Given the description of an element on the screen output the (x, y) to click on. 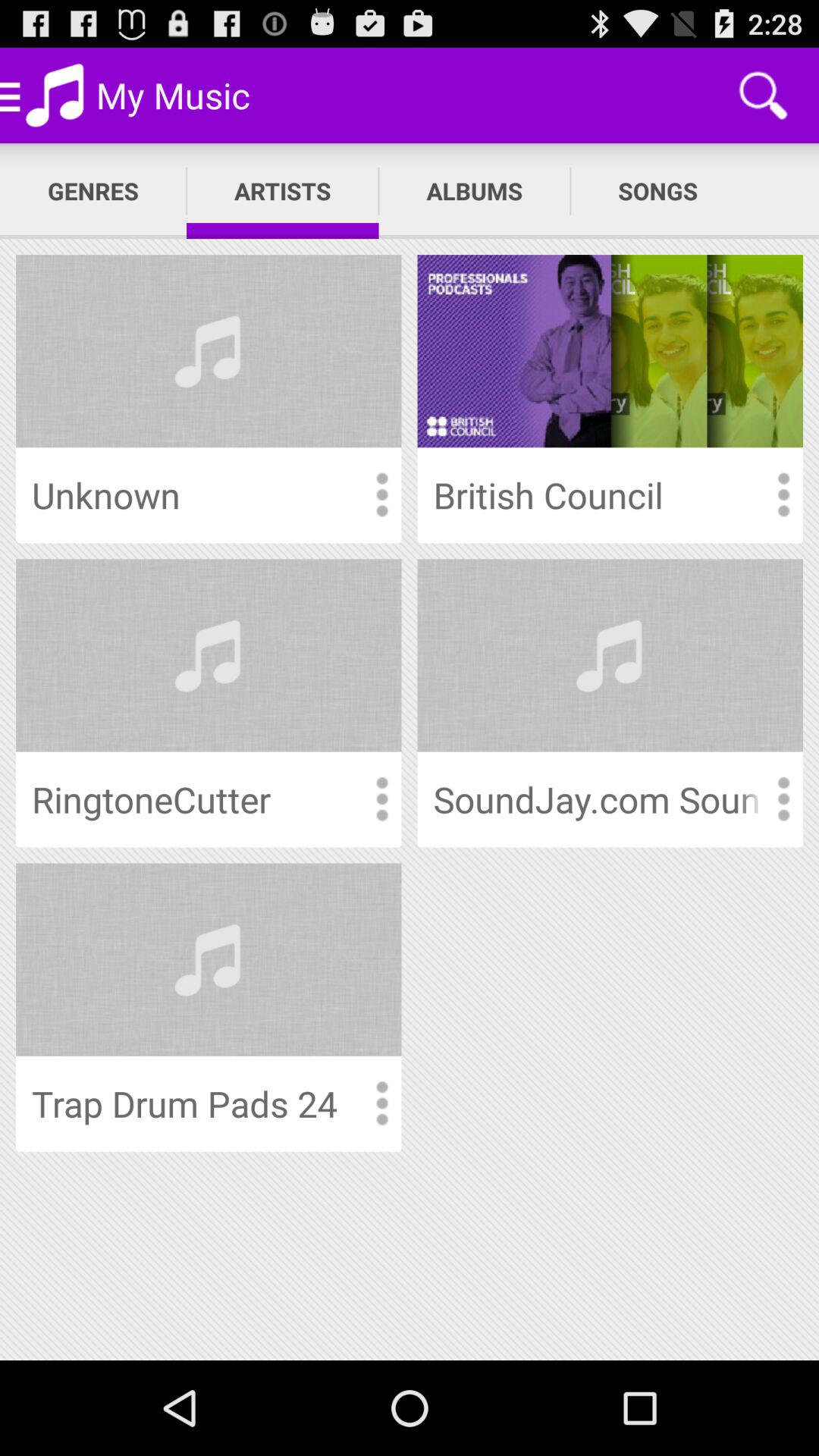
item menu (381, 495)
